Given the description of an element on the screen output the (x, y) to click on. 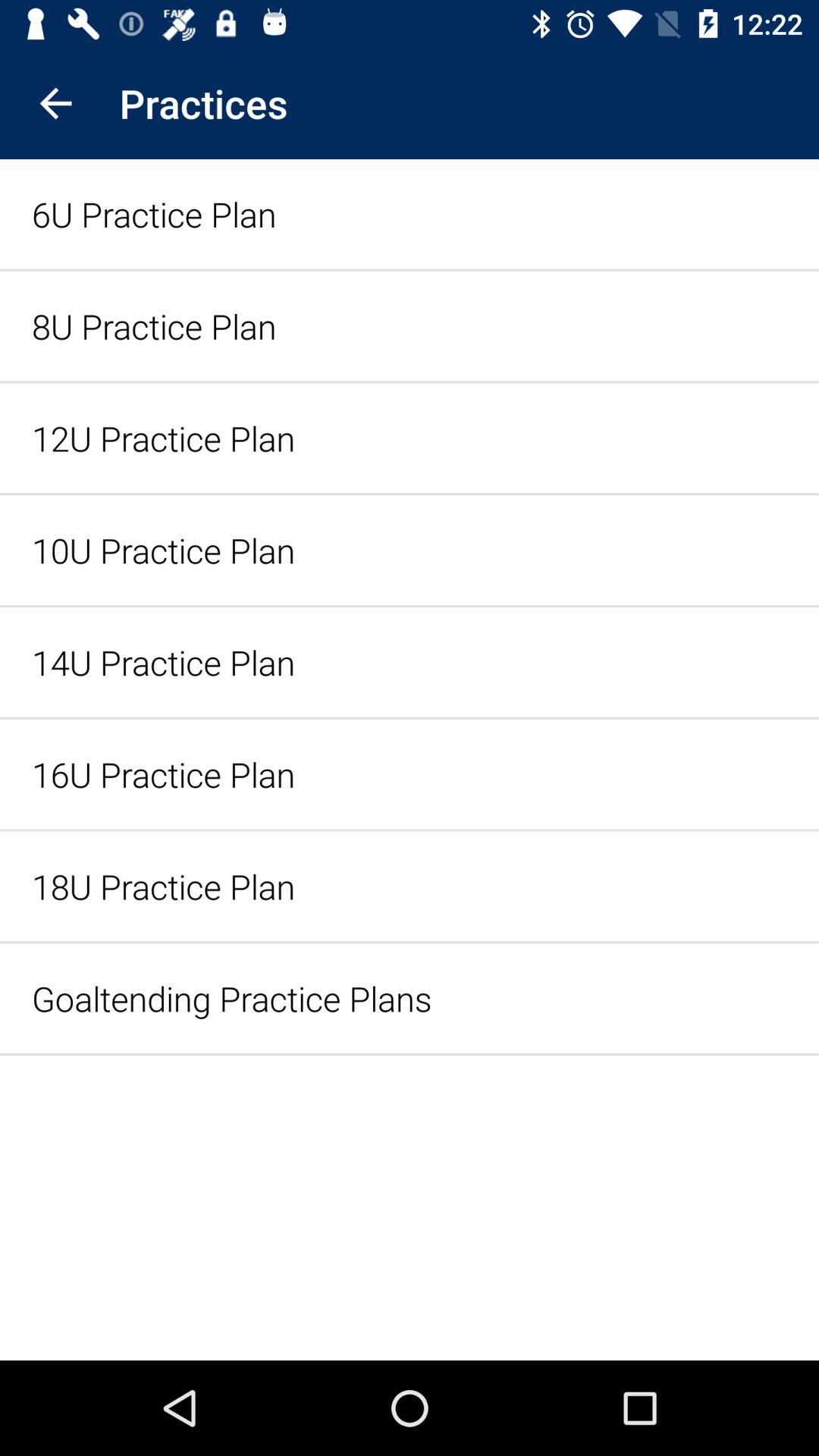
launch icon below the 18u practice plan item (409, 998)
